Given the description of an element on the screen output the (x, y) to click on. 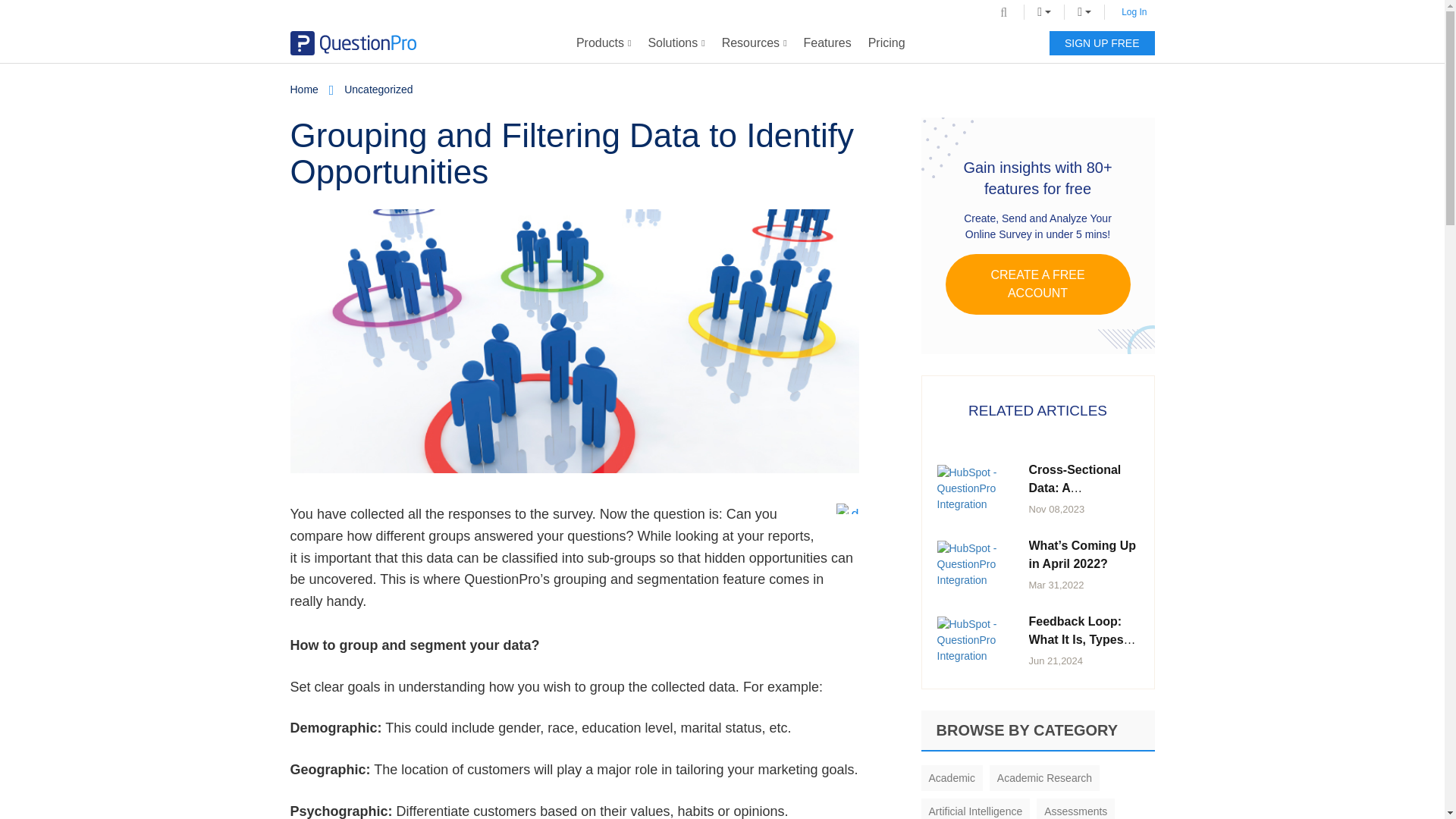
Pricing (887, 42)
Solutions (676, 42)
Features (827, 42)
Resources (753, 42)
Products (603, 42)
